Given the description of an element on the screen output the (x, y) to click on. 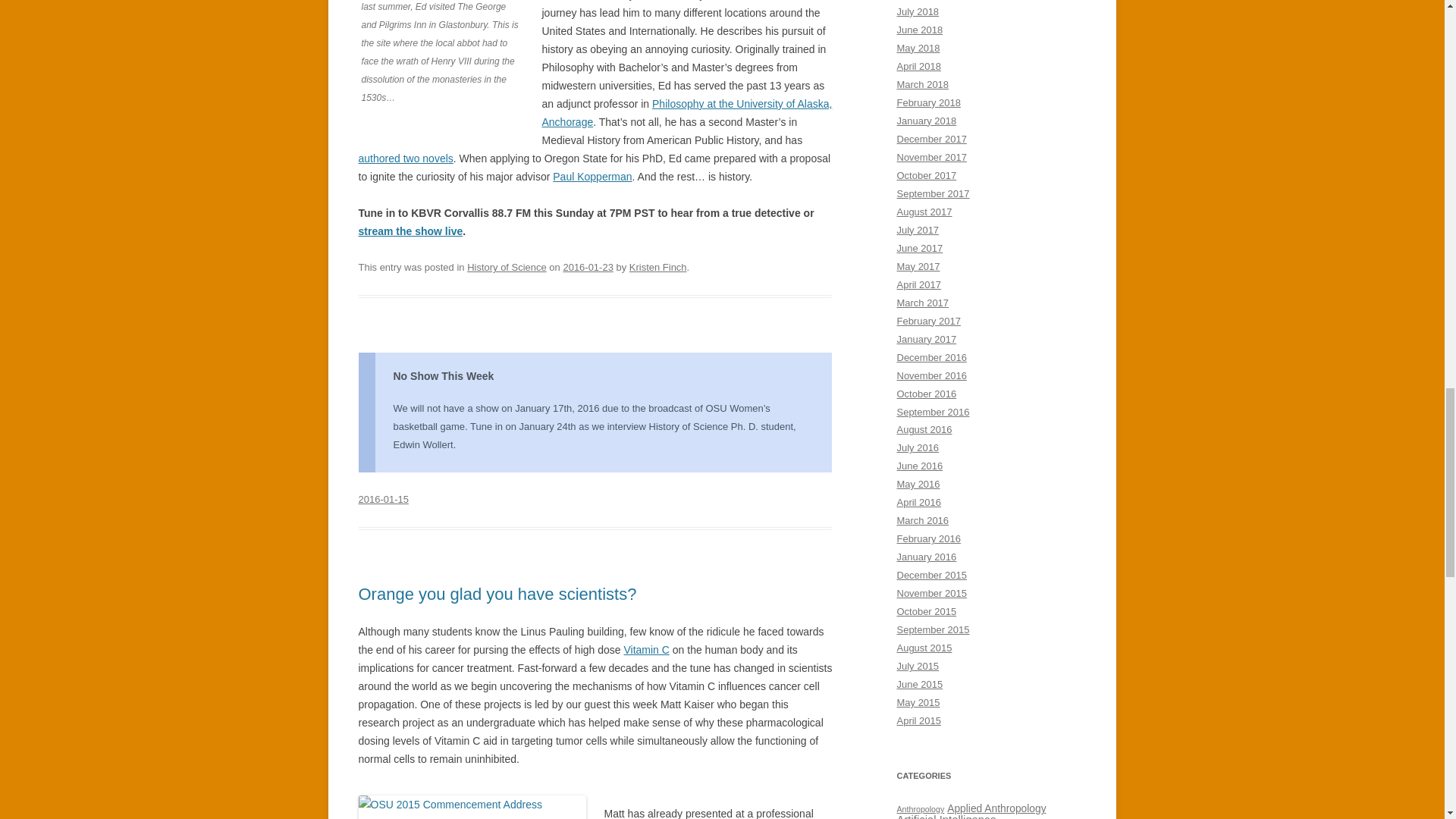
Paul Kopperman (592, 176)
Orange you glad you have scientists? (497, 593)
stream the show live (410, 231)
Philosophy at the University of Alaska, Anchorage (686, 112)
Vitamin C (645, 649)
View all posts by Kristen Finch (657, 266)
Permalink to No Show This Week (382, 499)
History of Science (507, 266)
authored two novels (405, 158)
2016-01-23 (587, 266)
No Show This Week (443, 376)
12:00 pm (587, 266)
2016-01-15 (382, 499)
Kristen Finch (657, 266)
